Given the description of an element on the screen output the (x, y) to click on. 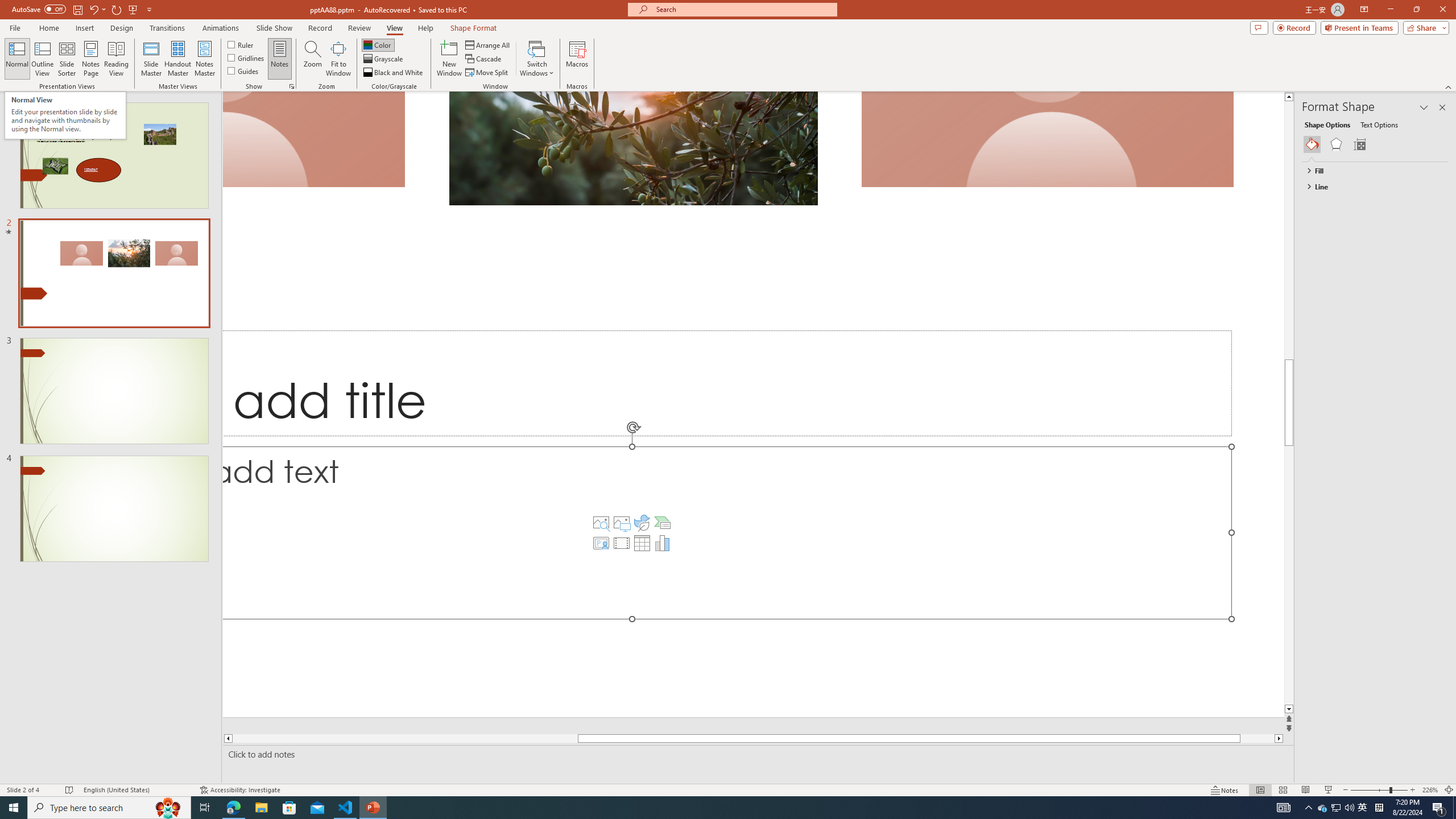
Decorative Locked (753, 403)
Size & Properties (1359, 144)
Slide Master (151, 58)
Class: NetUIScrollBar (1443, 468)
Insert Cameo (601, 542)
Notes (279, 58)
Fill (1370, 170)
Gridlines (246, 56)
Camera 13, No camera detected. (314, 139)
